Given the description of an element on the screen output the (x, y) to click on. 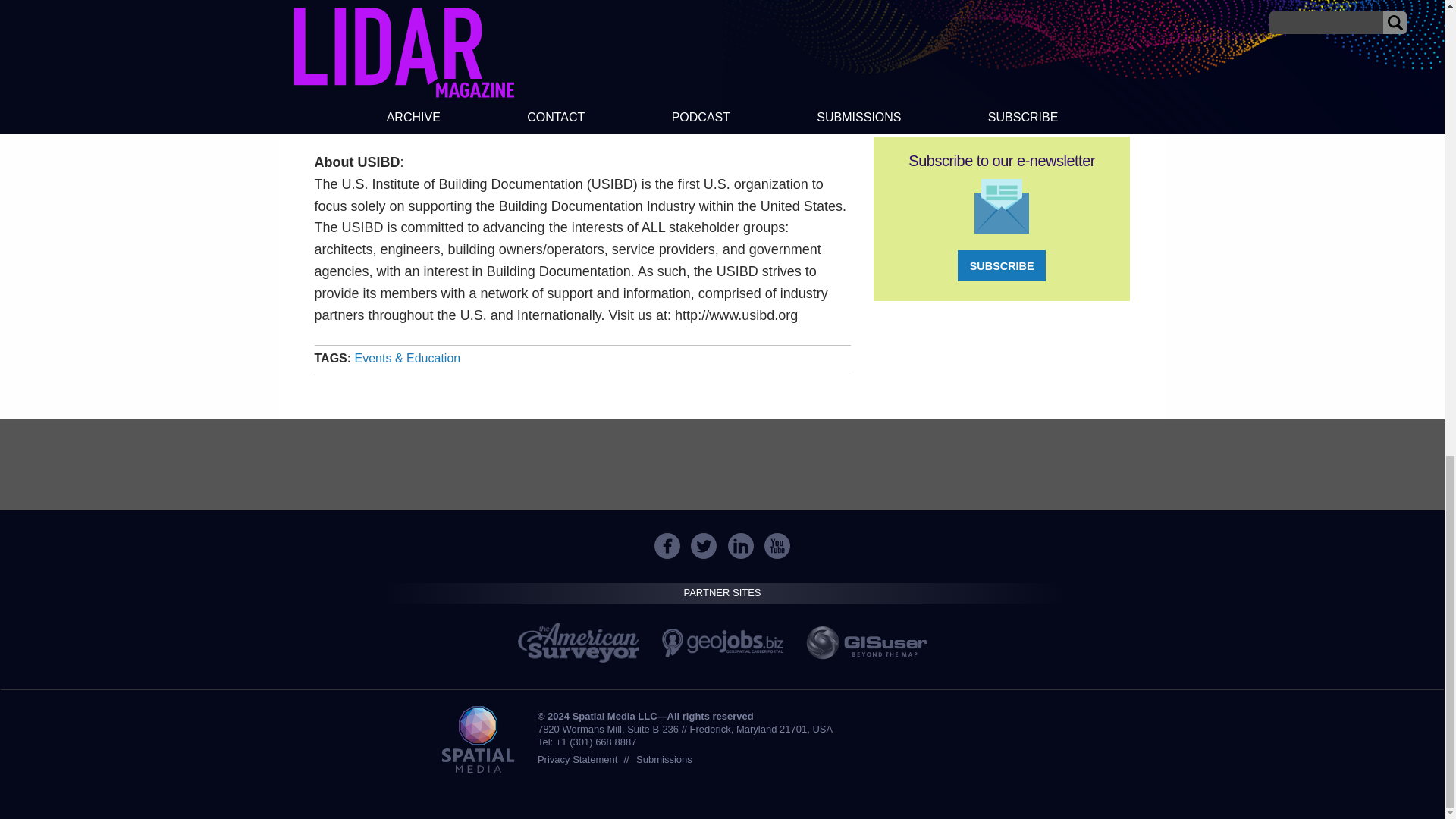
icon-sm-linkedin (740, 545)
icon-sm-twitter (703, 545)
icon-sm-youtube (777, 545)
icon-sm-twitter (703, 545)
Privacy Statement (577, 758)
SUBSCRIBE (1001, 265)
icon-sm-youtube (776, 545)
Submissions (664, 758)
3rd party ad content (1001, 45)
icon-sm-linkedin (741, 545)
icon-sm-fb (666, 545)
icon-sm-fb (667, 545)
3rd party ad content (721, 464)
